Given the description of an element on the screen output the (x, y) to click on. 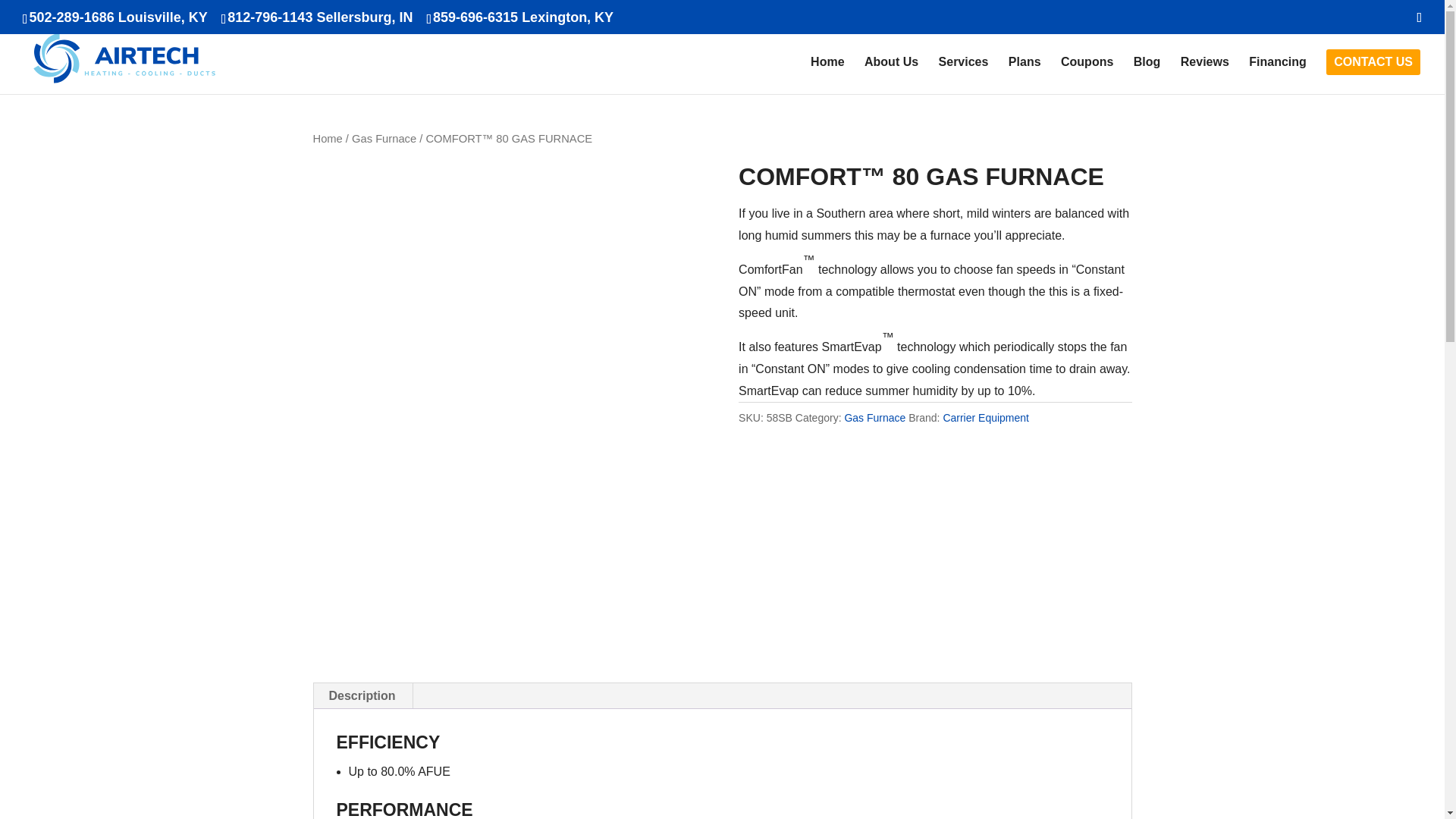
CONTACT US (1373, 62)
Gas Furnace (384, 138)
Carrier Equipment (985, 417)
Home (327, 138)
Reviews (1204, 75)
Financing (1277, 75)
Gas Furnace (874, 417)
Coupons (1087, 75)
About Us (891, 75)
Home (827, 75)
